Given the description of an element on the screen output the (x, y) to click on. 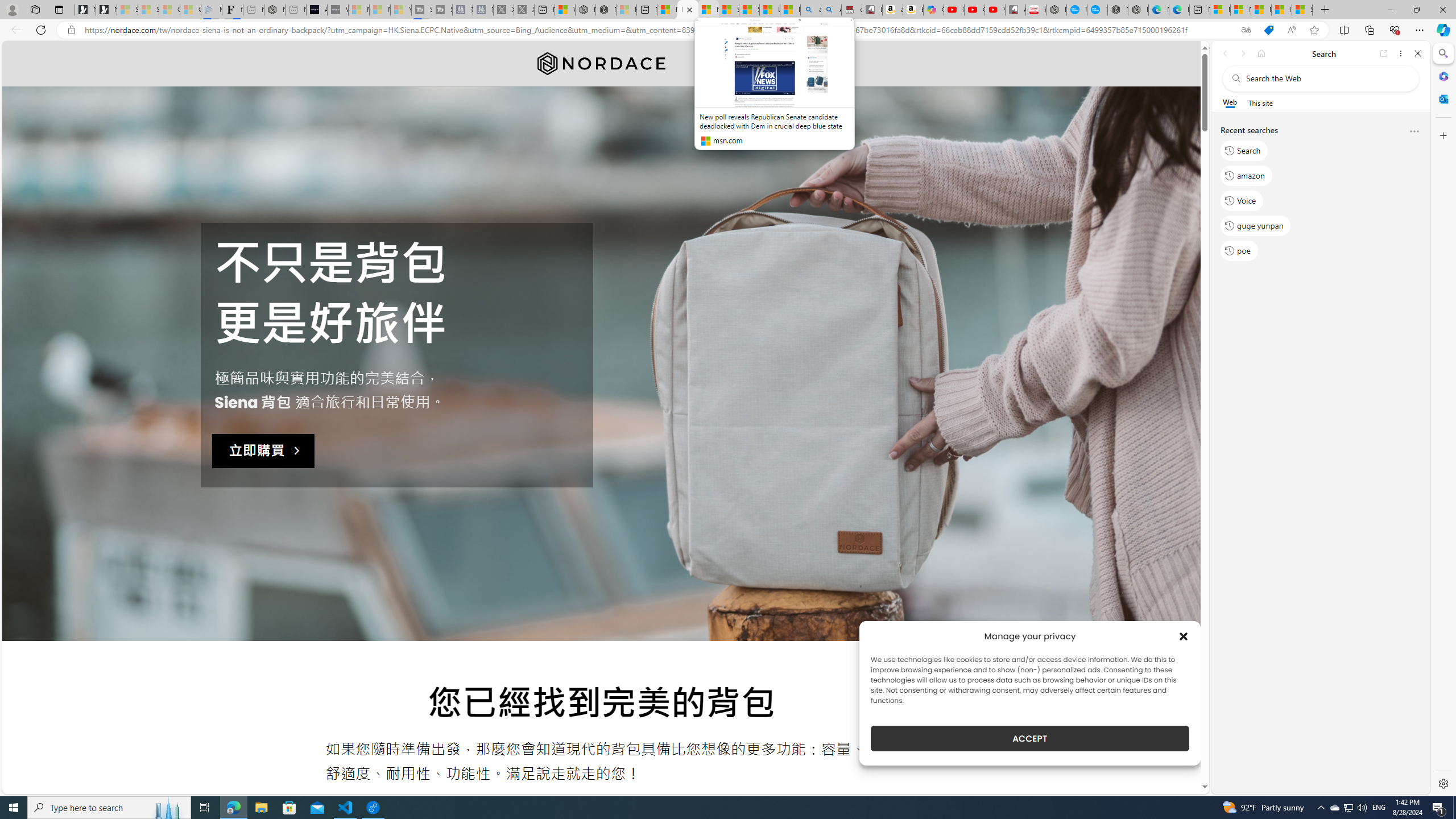
amazon (1246, 175)
Amazon Echo Dot PNG - Search Images (830, 9)
Microsoft Start - Sleeping (379, 9)
